Given the description of an element on the screen output the (x, y) to click on. 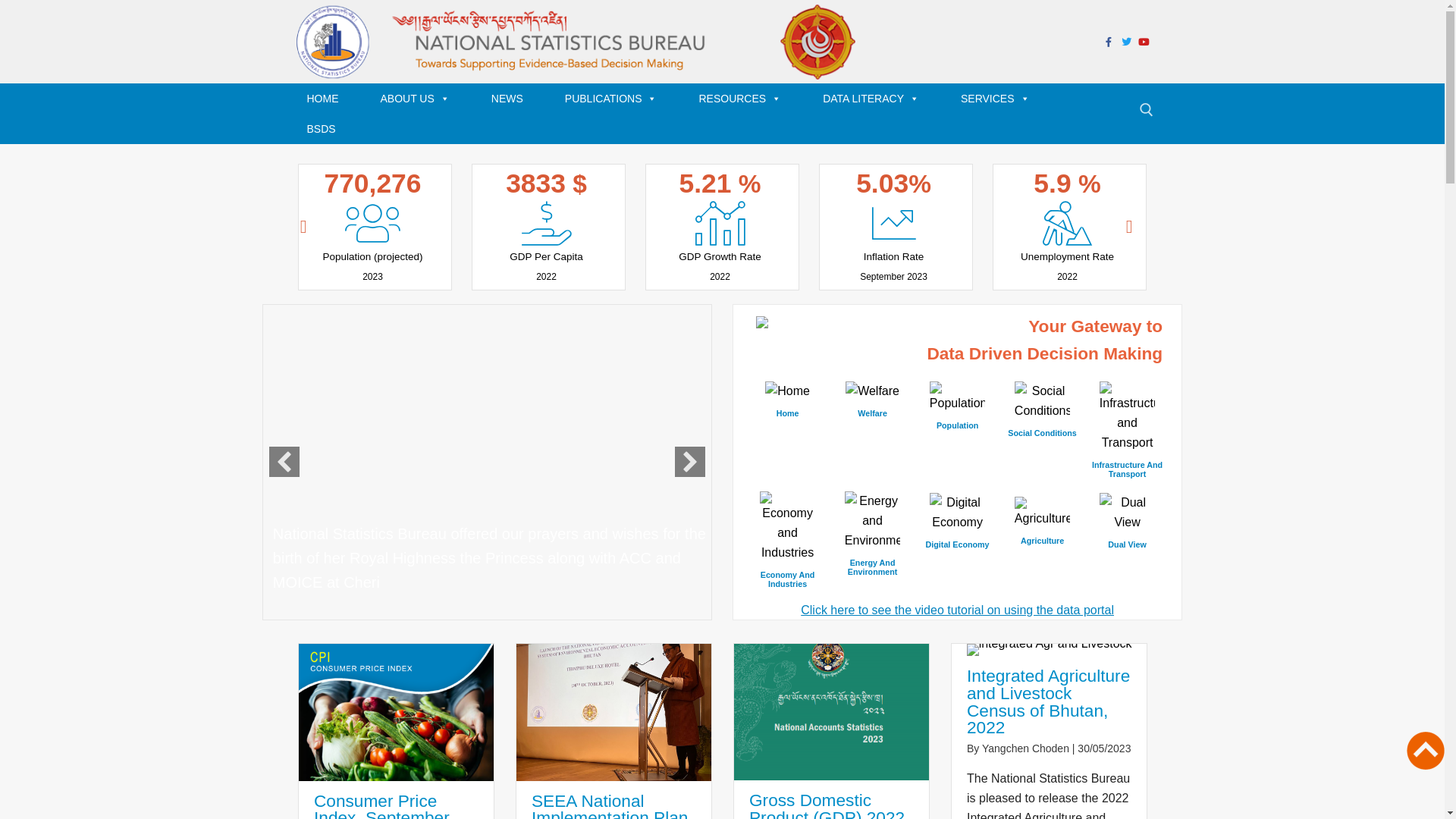
Home Element type: hover (787, 391)
Dual View Element type: hover (1127, 512)
Facebook Element type: hover (1108, 41)
Welfare Element type: text (872, 400)
Youtube Element type: hover (1143, 41)
Integrated Agriculture and Livestock Census of Bhutan, 2022 Element type: text (1047, 701)
Home Element type: text (787, 400)
NEWS Element type: text (512, 98)
PUBLICATIONS Element type: text (616, 98)
Population Element type: text (957, 412)
Welfare Element type: hover (872, 391)
BLSS Silder Element type: text (313, 582)
Digital Economy Element type: hover (957, 512)
Energy and Environment Element type: hover (872, 520)
DATA LITERACY Element type: text (876, 98)
HOME Element type: text (327, 98)
Economy and Industries Element type: hover (787, 526)
SEC Element type: hover (613, 711)
CPI Element type: hover (395, 711)
Population Element type: hover (957, 397)
Dual View Element type: text (1127, 532)
NAR cover Element type: hover (831, 711)
BSDS Element type: text (326, 128)
Social Conditions Element type: hover (1042, 400)
RESOURCES Element type: text (745, 98)
Agriculture Element type: text (1042, 528)
Infrastructure and Transport Element type: hover (1127, 416)
ABOUT US Element type: text (420, 98)
SERVICES Element type: text (1000, 98)
Yangchen Choden Element type: text (1025, 748)
integrated Agr and Livestock Element type: hover (1049, 649)
Agriculture Element type: hover (1042, 512)
Social Conditions Element type: text (1042, 420)
Energy And Environment Element type: text (872, 554)
Digital Economy Element type: text (957, 532)
Economy And Industries Element type: text (787, 567)
Infrastructure And Transport Element type: text (1127, 457)
Twitter Element type: hover (1126, 41)
